Given the description of an element on the screen output the (x, y) to click on. 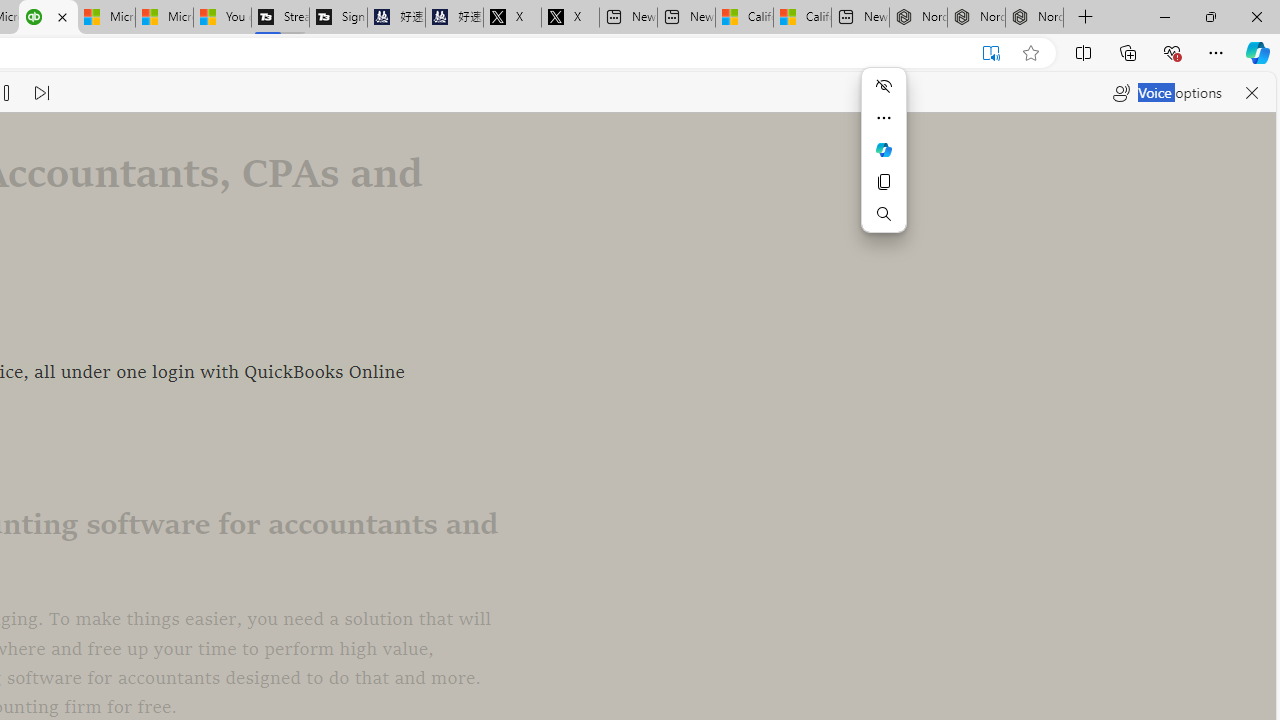
Nordace - Siena Pro 15 Essential Set (1034, 17)
